Given the description of an element on the screen output the (x, y) to click on. 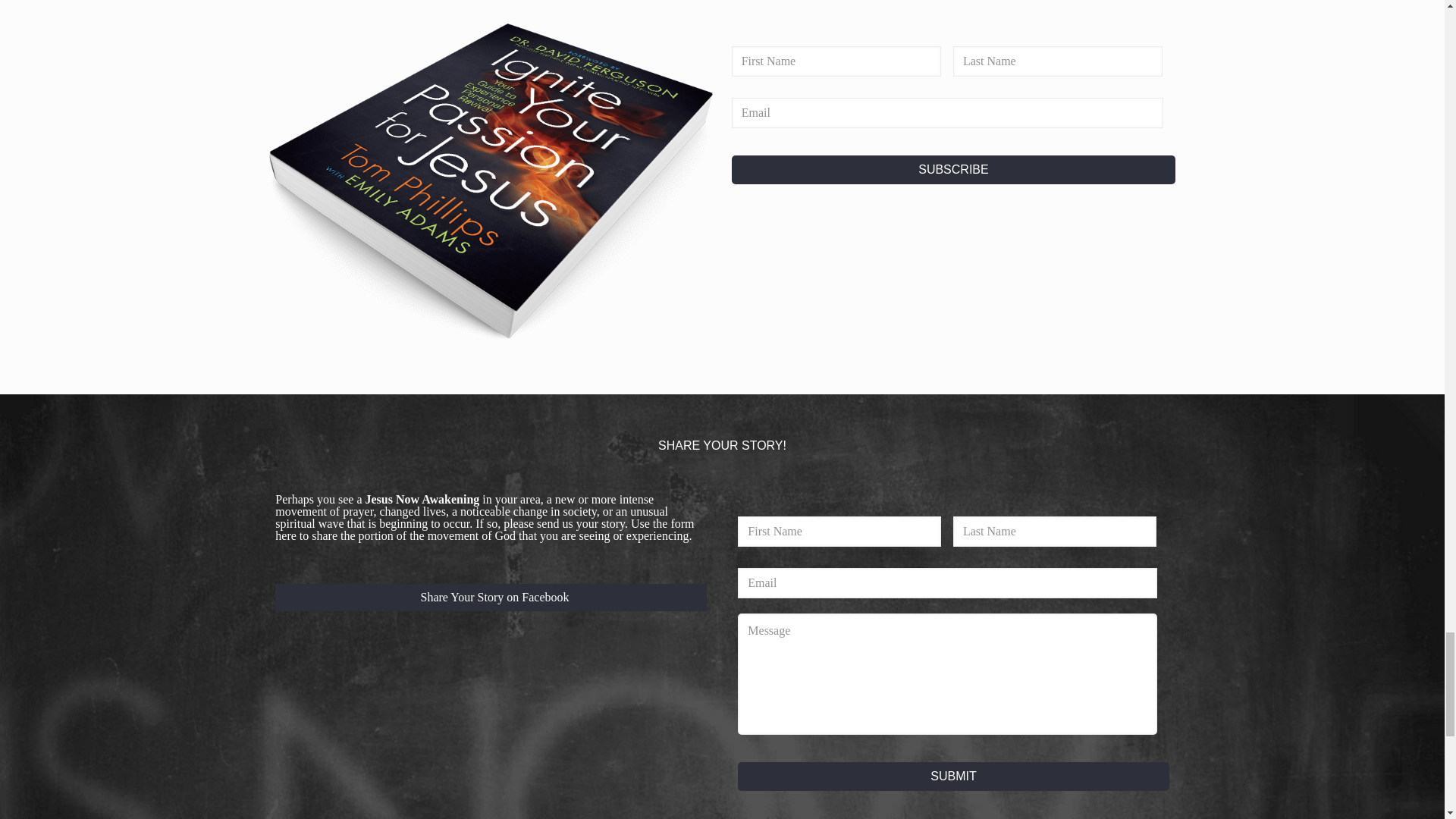
Subscribe (954, 169)
Submit (953, 776)
Subscribe (954, 169)
Submit (953, 776)
Share Your Story on Facebook (490, 596)
